Given the description of an element on the screen output the (x, y) to click on. 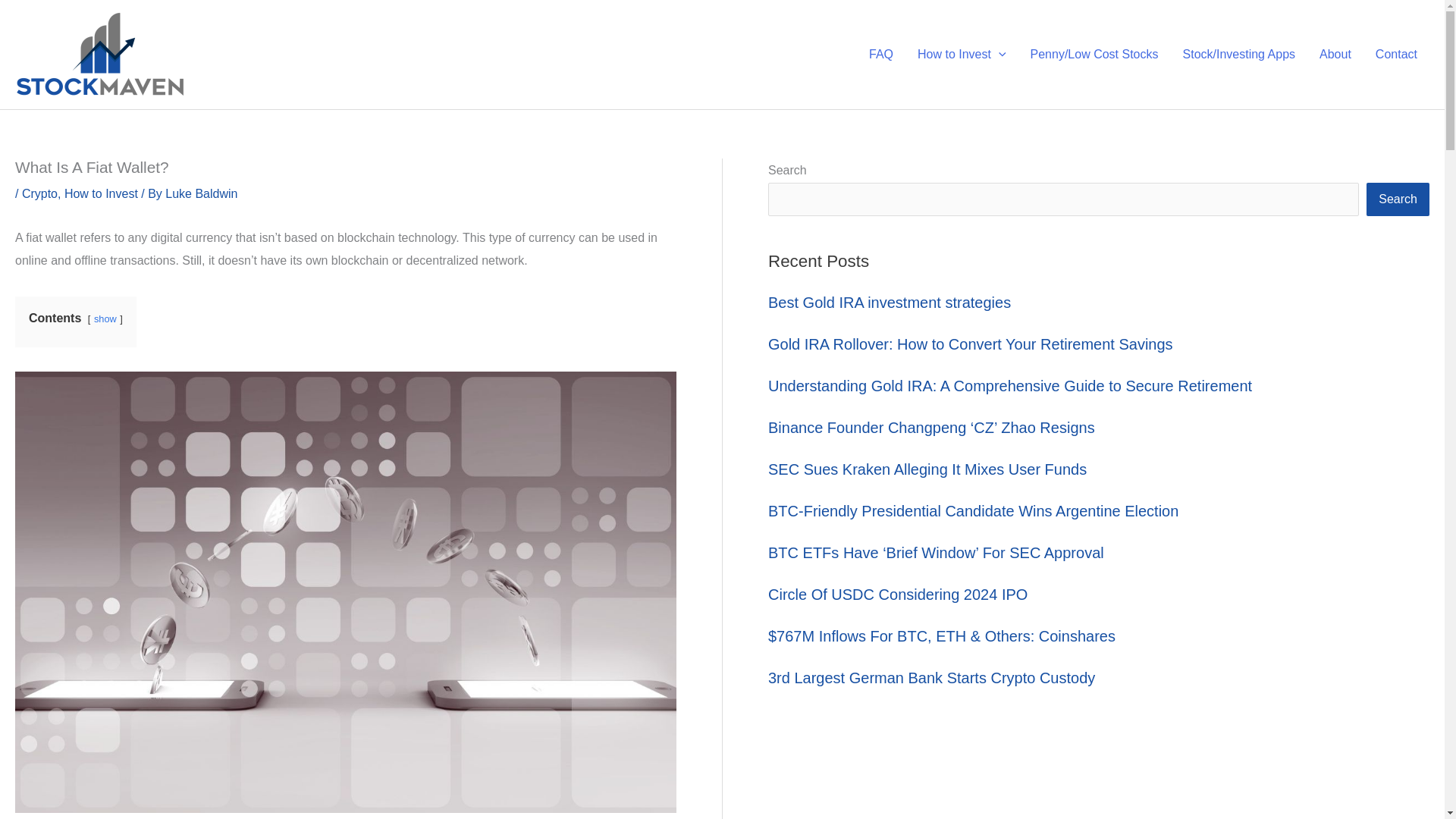
Luke Baldwin (201, 193)
About (1334, 54)
Crypto (39, 193)
View all posts by Luke Baldwin (201, 193)
Contact (1395, 54)
How to Invest (961, 54)
FAQ (881, 54)
show (105, 318)
How to Invest (101, 193)
